Given the description of an element on the screen output the (x, y) to click on. 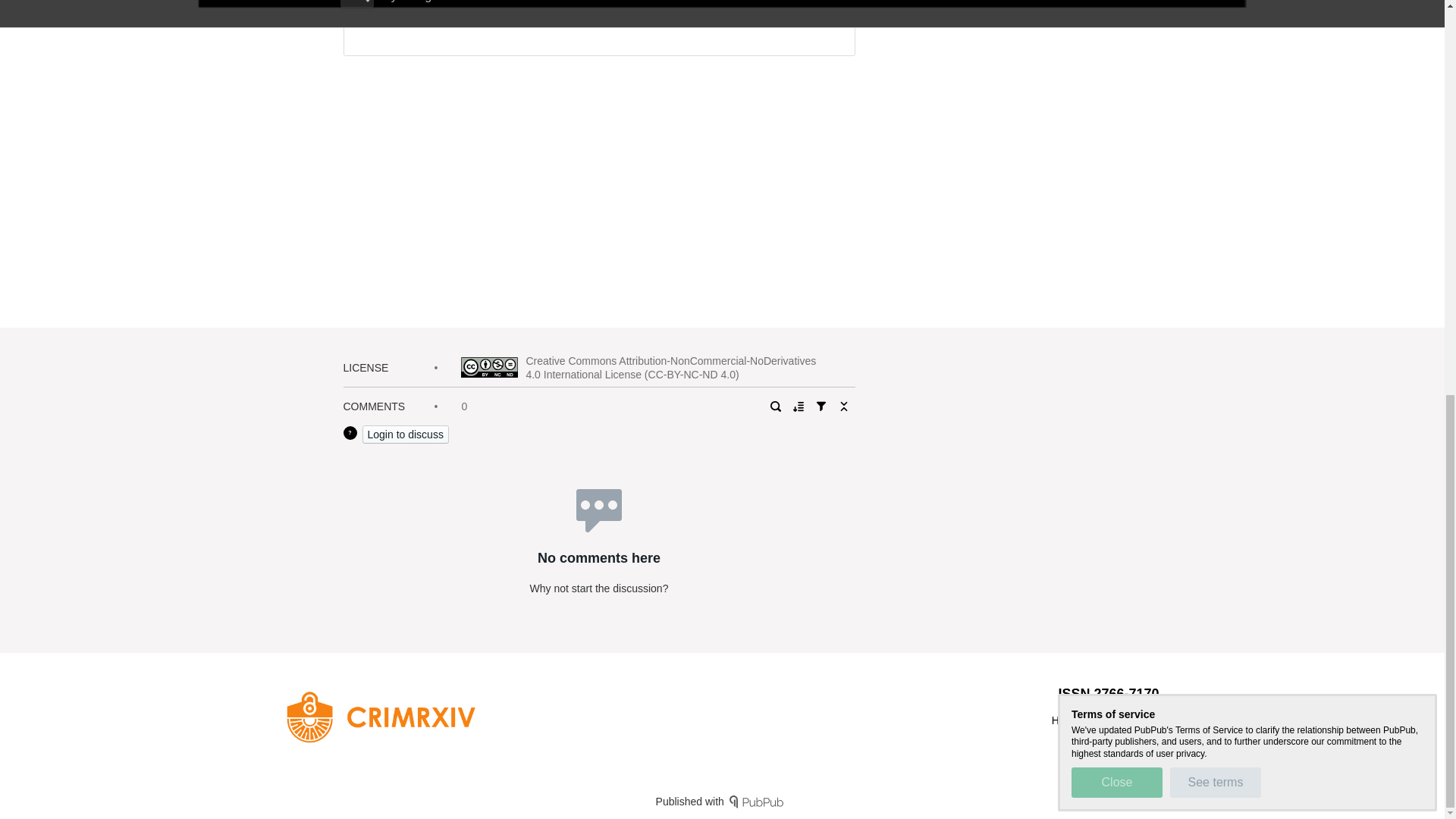
RSS (1104, 720)
Close (1116, 20)
Help (1062, 720)
Legal (1145, 720)
See terms (1215, 20)
ISSN 2766-7170 (1108, 693)
Published with (722, 801)
Login to discuss (405, 434)
